Given the description of an element on the screen output the (x, y) to click on. 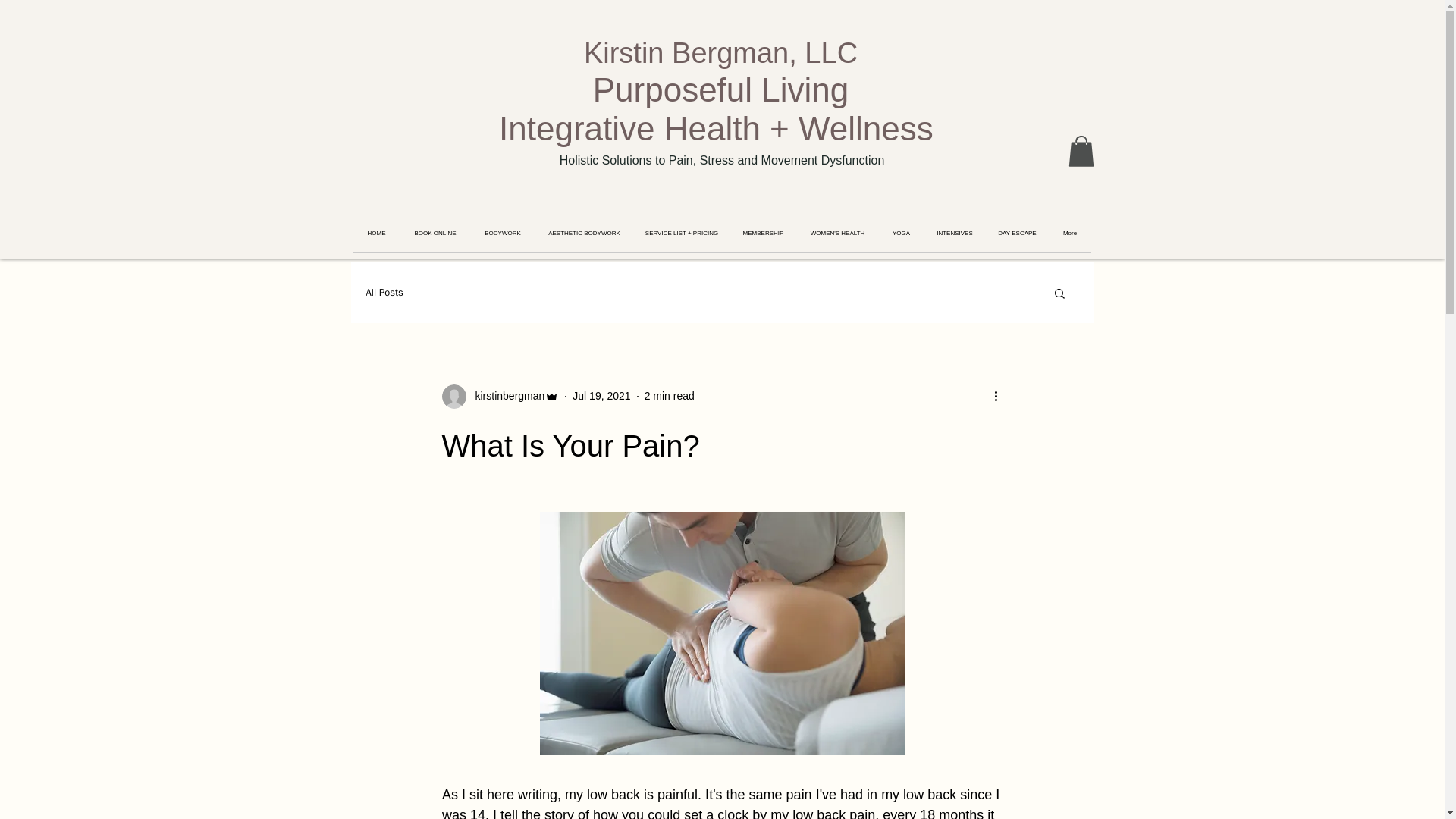
2 min read (669, 395)
BODYWORK (502, 233)
MEMBERSHIP (762, 233)
kirstinbergman (504, 396)
INTENSIVES (954, 233)
DAY ESCAPE (1017, 233)
YOGA (900, 233)
BOOK ONLINE (435, 233)
kirstinbergman (500, 396)
All Posts (384, 292)
AESTHETIC BODYWORK (584, 233)
Jul 19, 2021 (601, 395)
HOME (376, 233)
WOMEN'S HEALTH (836, 233)
